Given the description of an element on the screen output the (x, y) to click on. 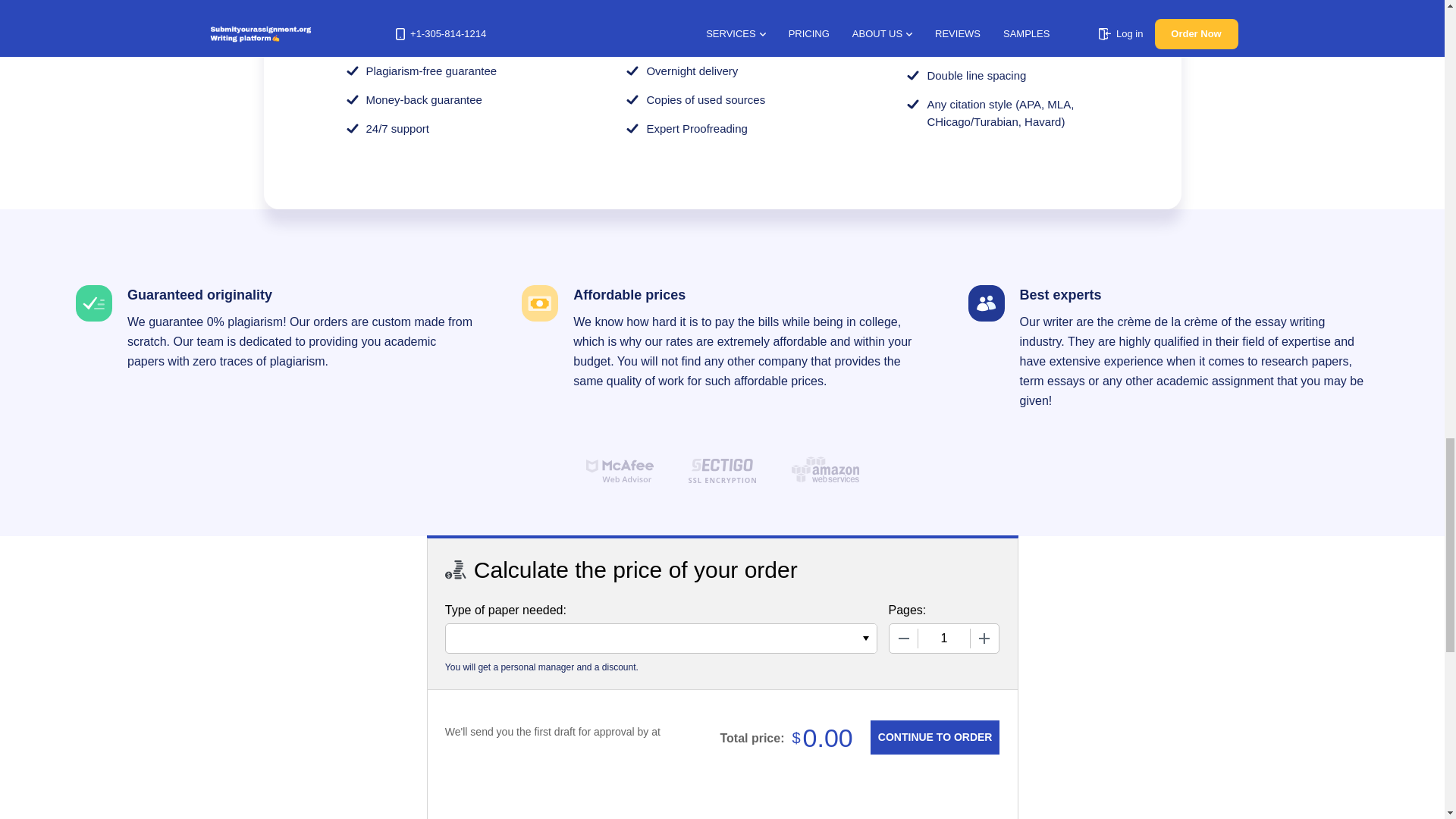
Decrease (902, 638)
Continue to Order (934, 737)
Increase (983, 638)
Continue to order (934, 737)
1 (943, 638)
Continue to order (934, 737)
